Given the description of an element on the screen output the (x, y) to click on. 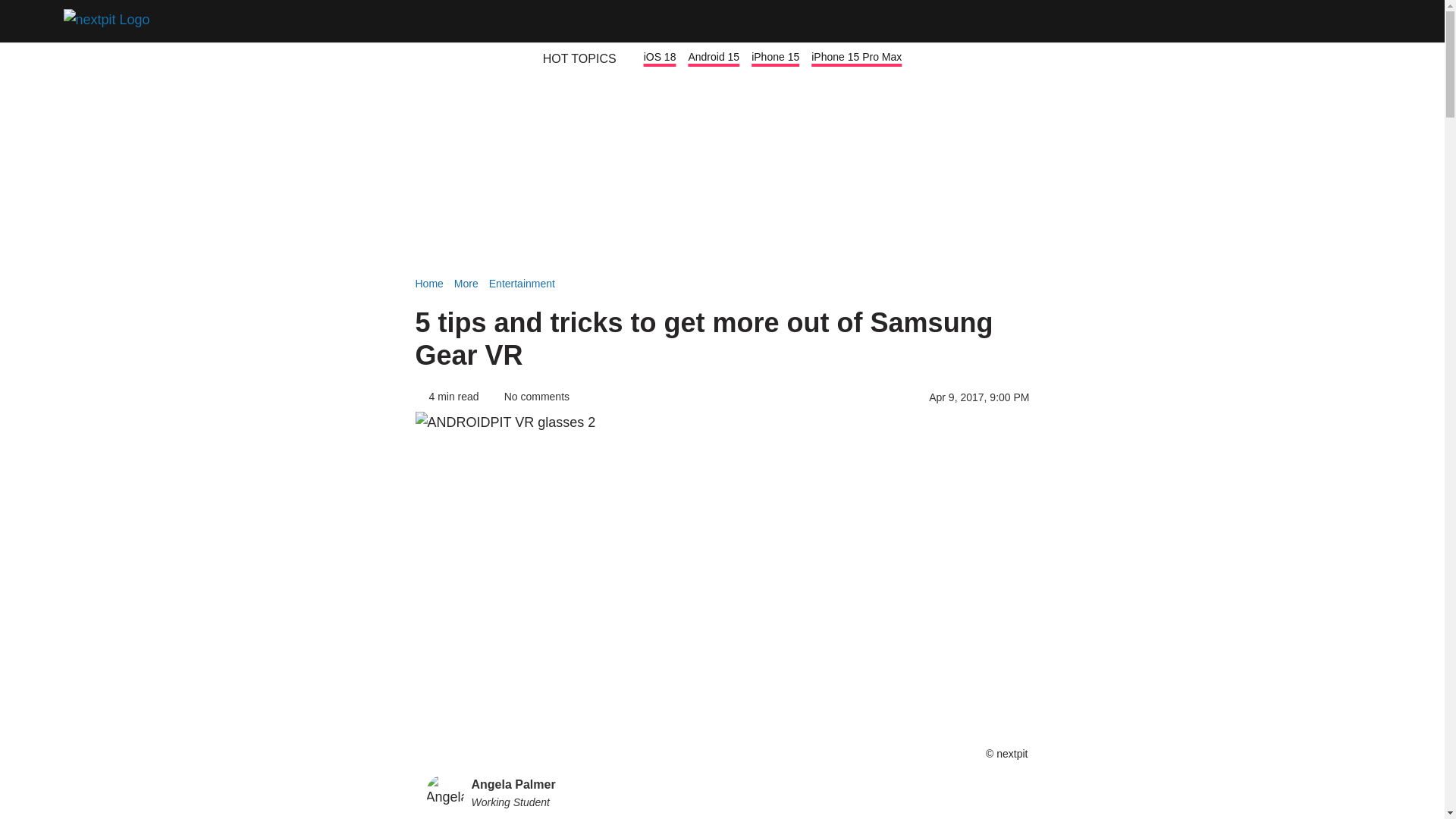
4 min read (446, 396)
To the nextpit homepage (110, 21)
Apr 9, 2017, 9:00:01 PM (978, 397)
Login (1321, 21)
